Given the description of an element on the screen output the (x, y) to click on. 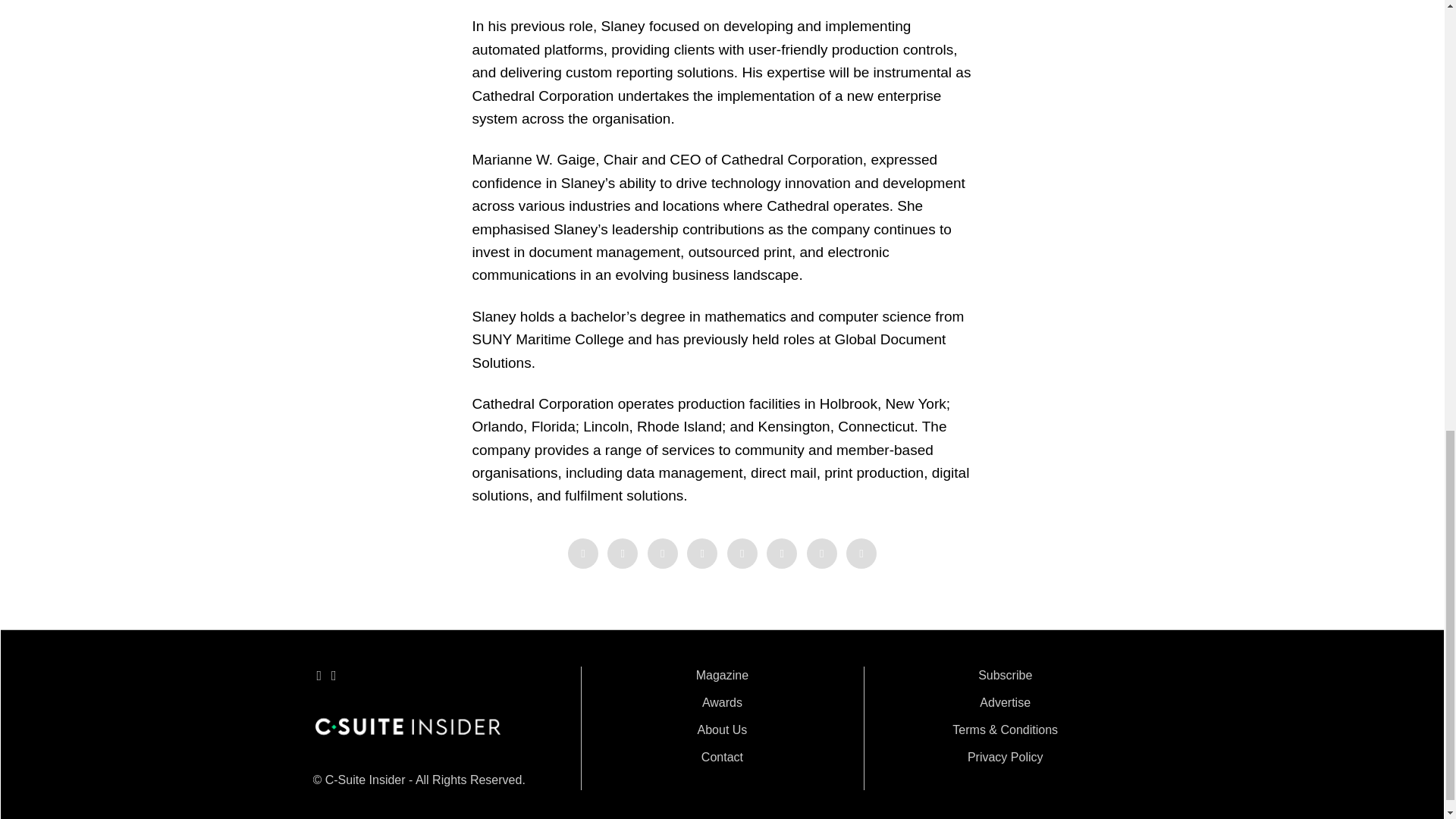
Subscribe (1005, 675)
Contact (721, 757)
Advertise (1004, 702)
Magazine (721, 675)
About Us (722, 729)
Privacy Policy (1005, 757)
Awards (721, 702)
